Given the description of an element on the screen output the (x, y) to click on. 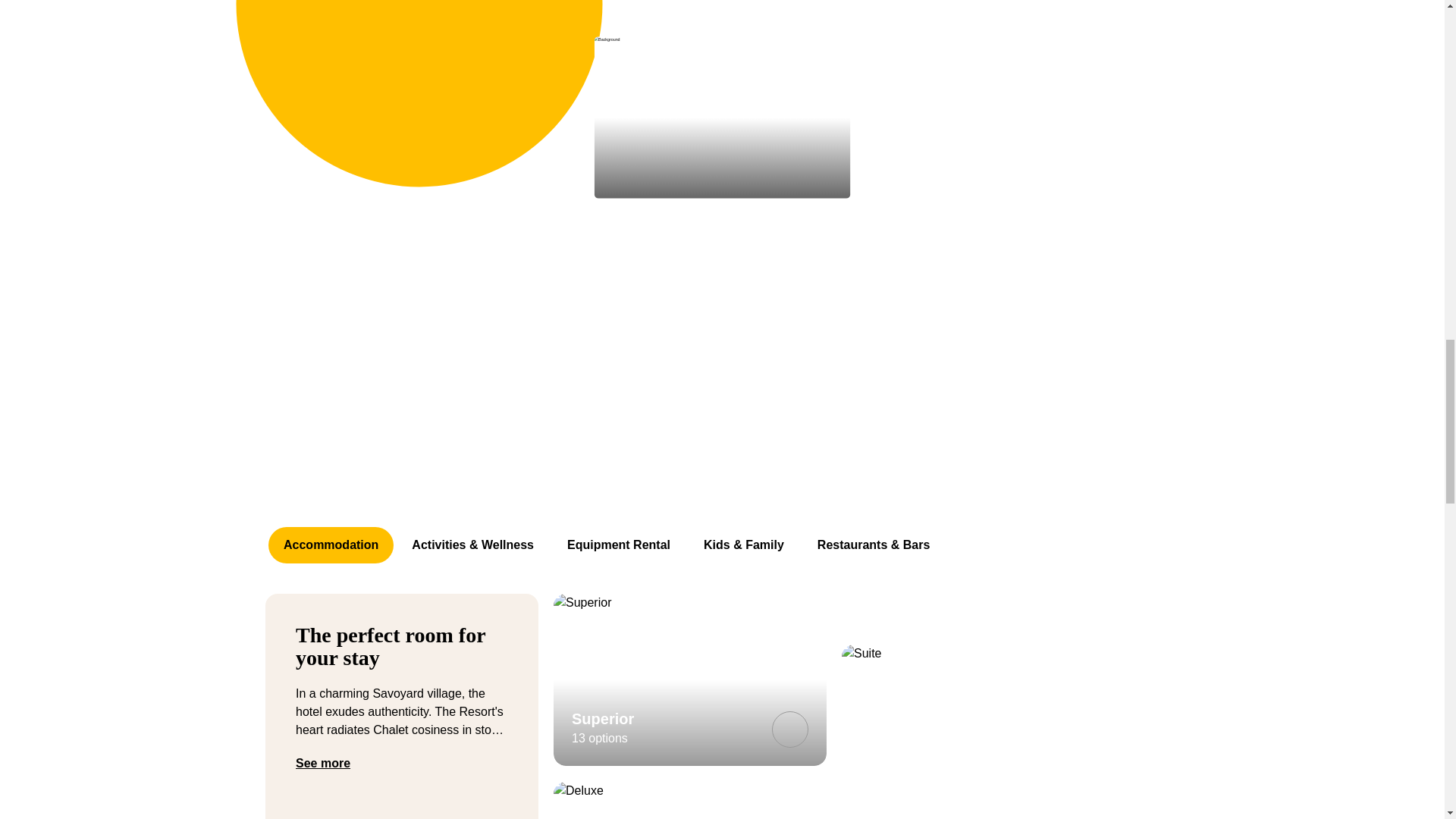
Superior (789, 729)
